Given the description of an element on the screen output the (x, y) to click on. 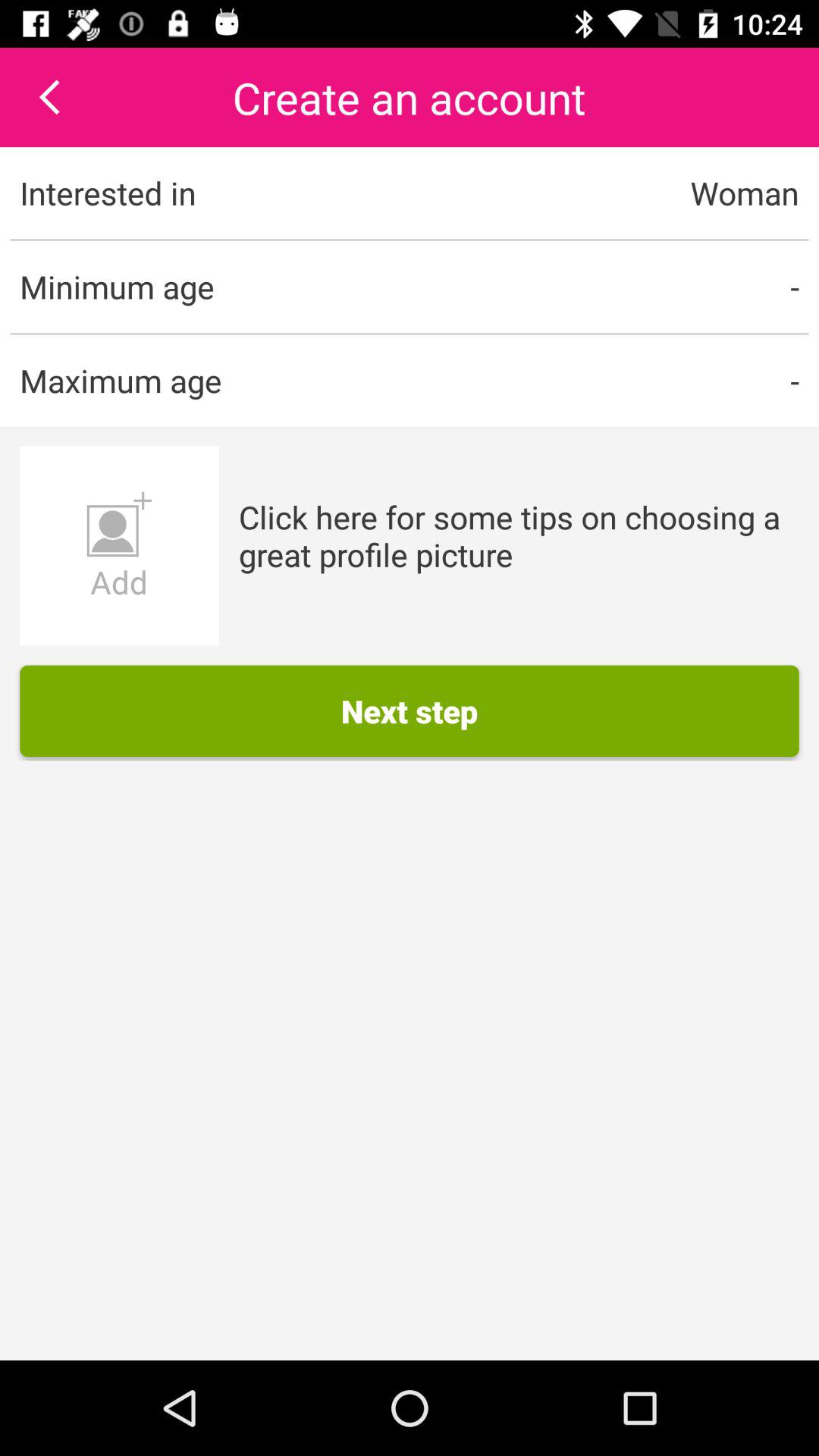
jump until the click here for item (518, 535)
